Given the description of an element on the screen output the (x, y) to click on. 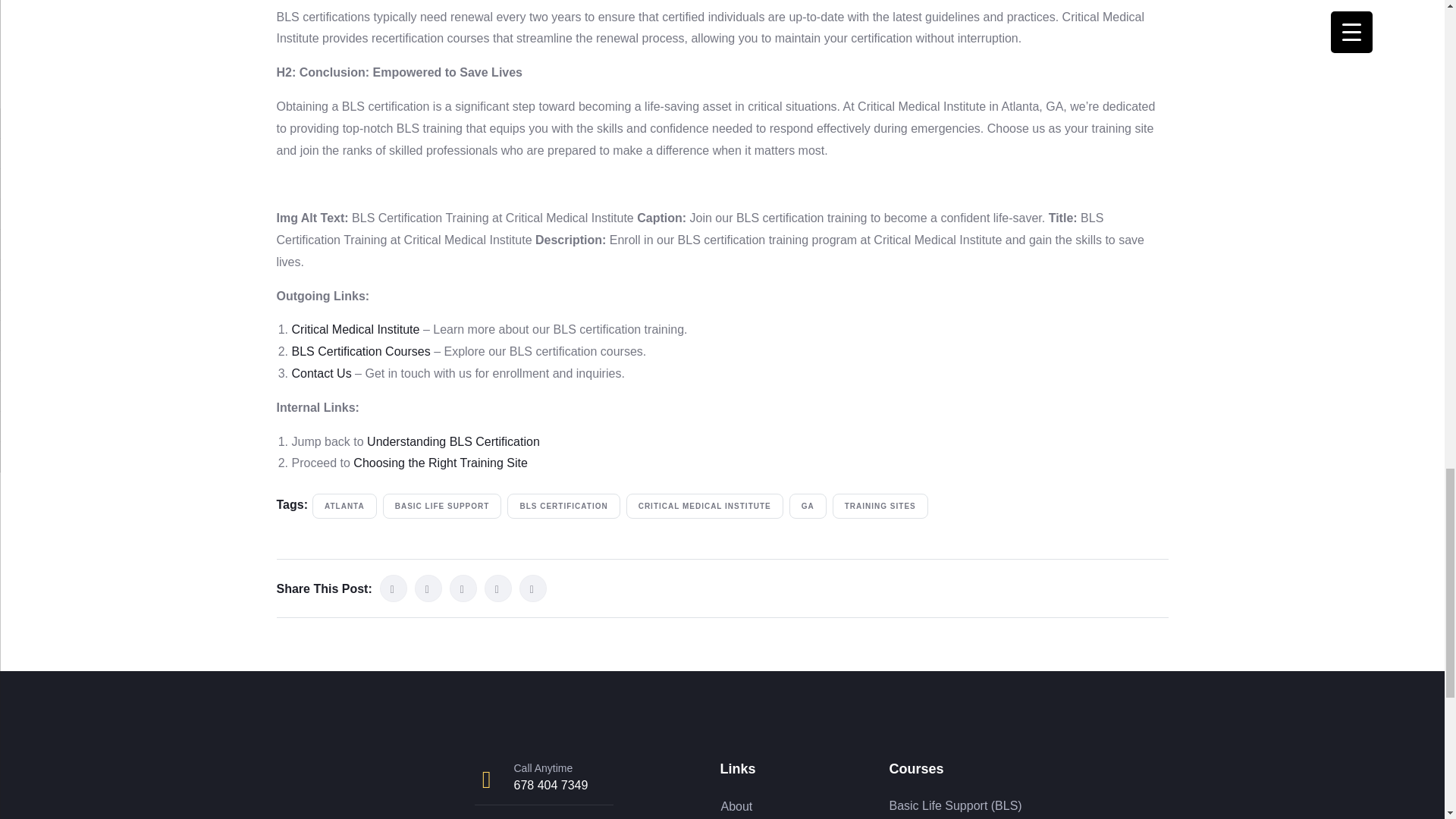
Home (347, 790)
